Given the description of an element on the screen output the (x, y) to click on. 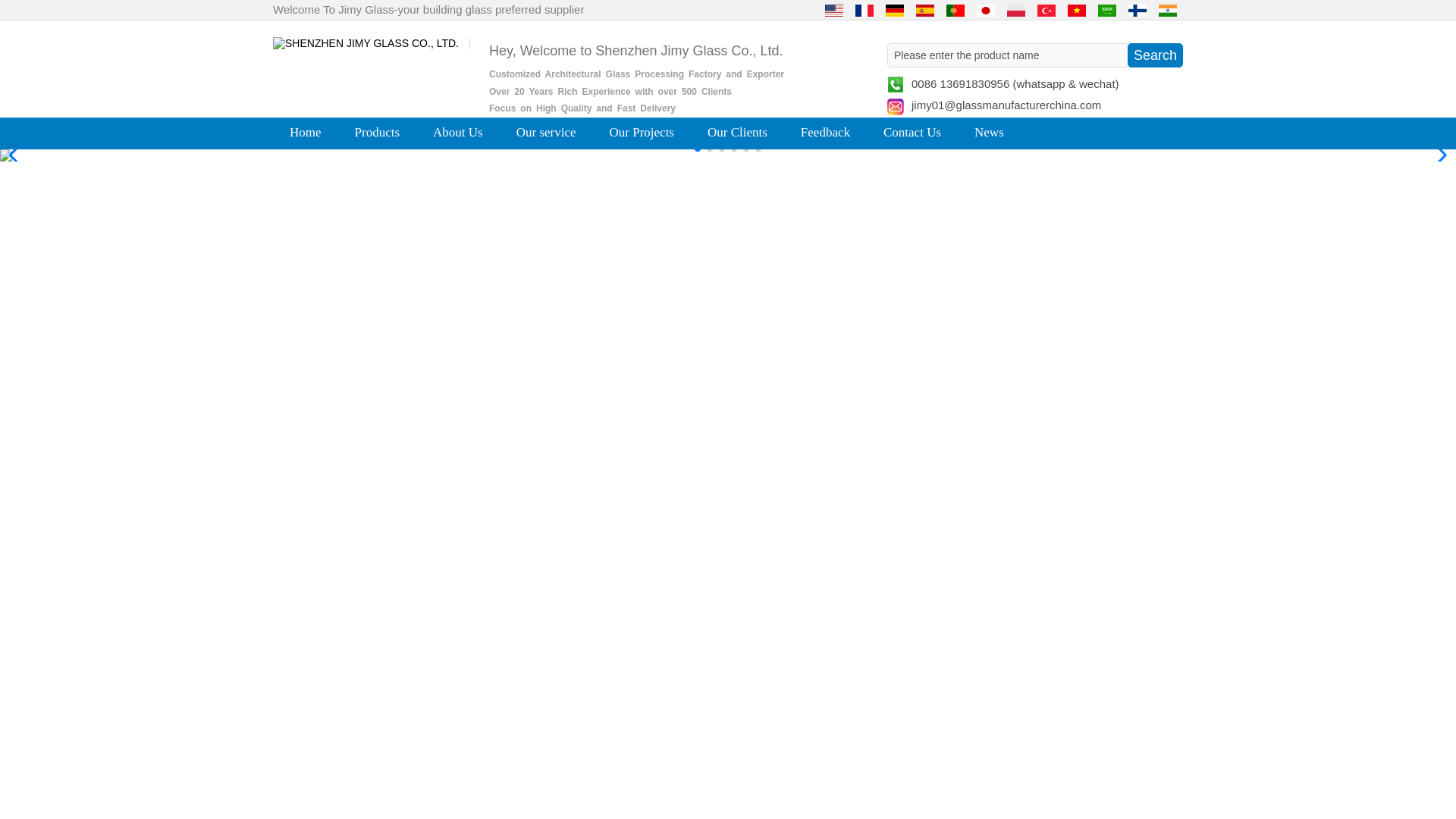
Home (305, 131)
Polskie (1016, 9)
SHENZHEN JIMY GLASS CO., LTD. (365, 42)
Our Projects (642, 131)
Search (1154, 55)
Contact Us (911, 131)
Products (377, 131)
About Us (457, 131)
English (834, 9)
Suomalainen (1137, 9)
